Given the description of an element on the screen output the (x, y) to click on. 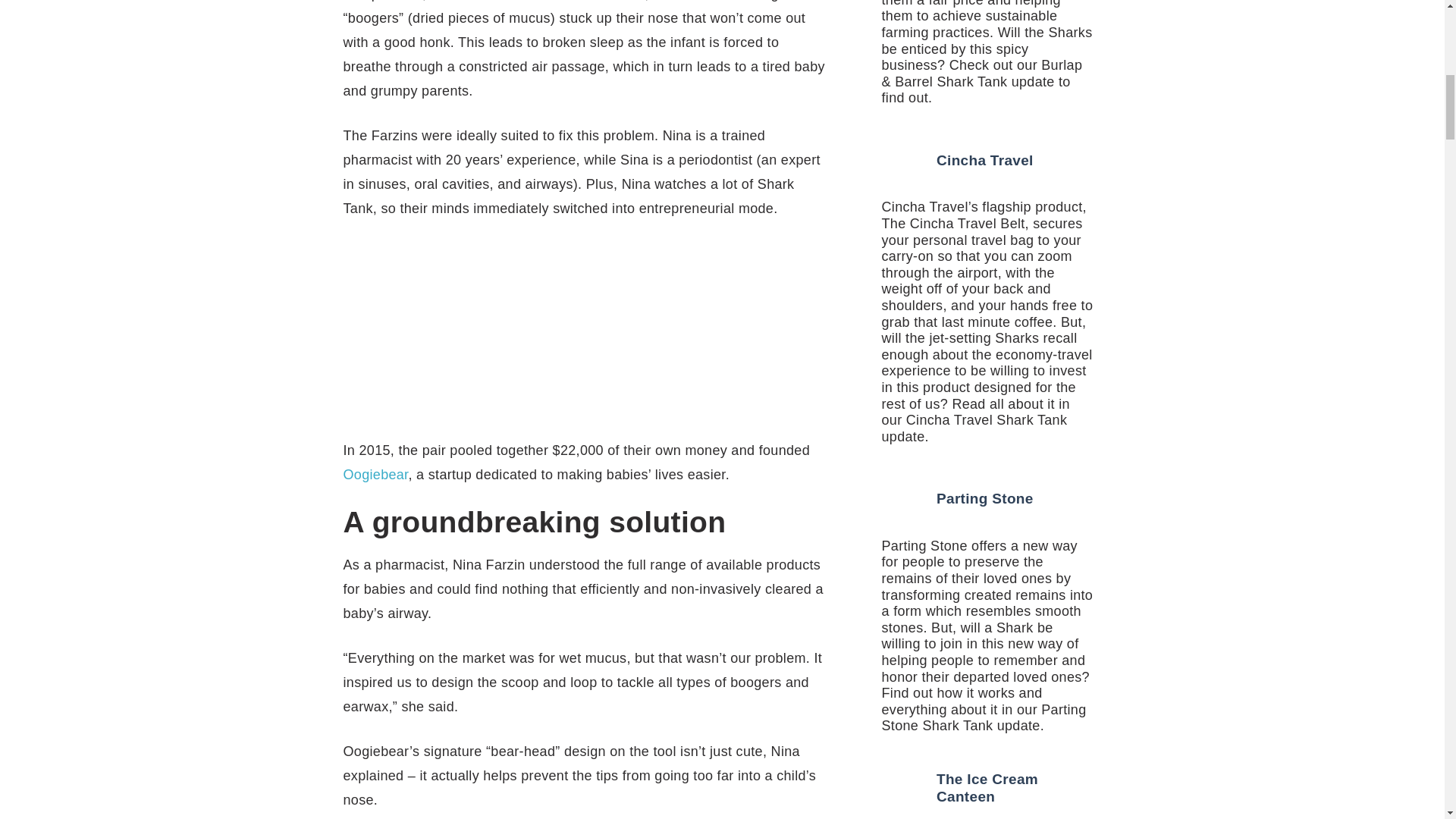
Oogiebear (374, 474)
Parting Stone (984, 498)
Cincha Travel (984, 160)
